Given the description of an element on the screen output the (x, y) to click on. 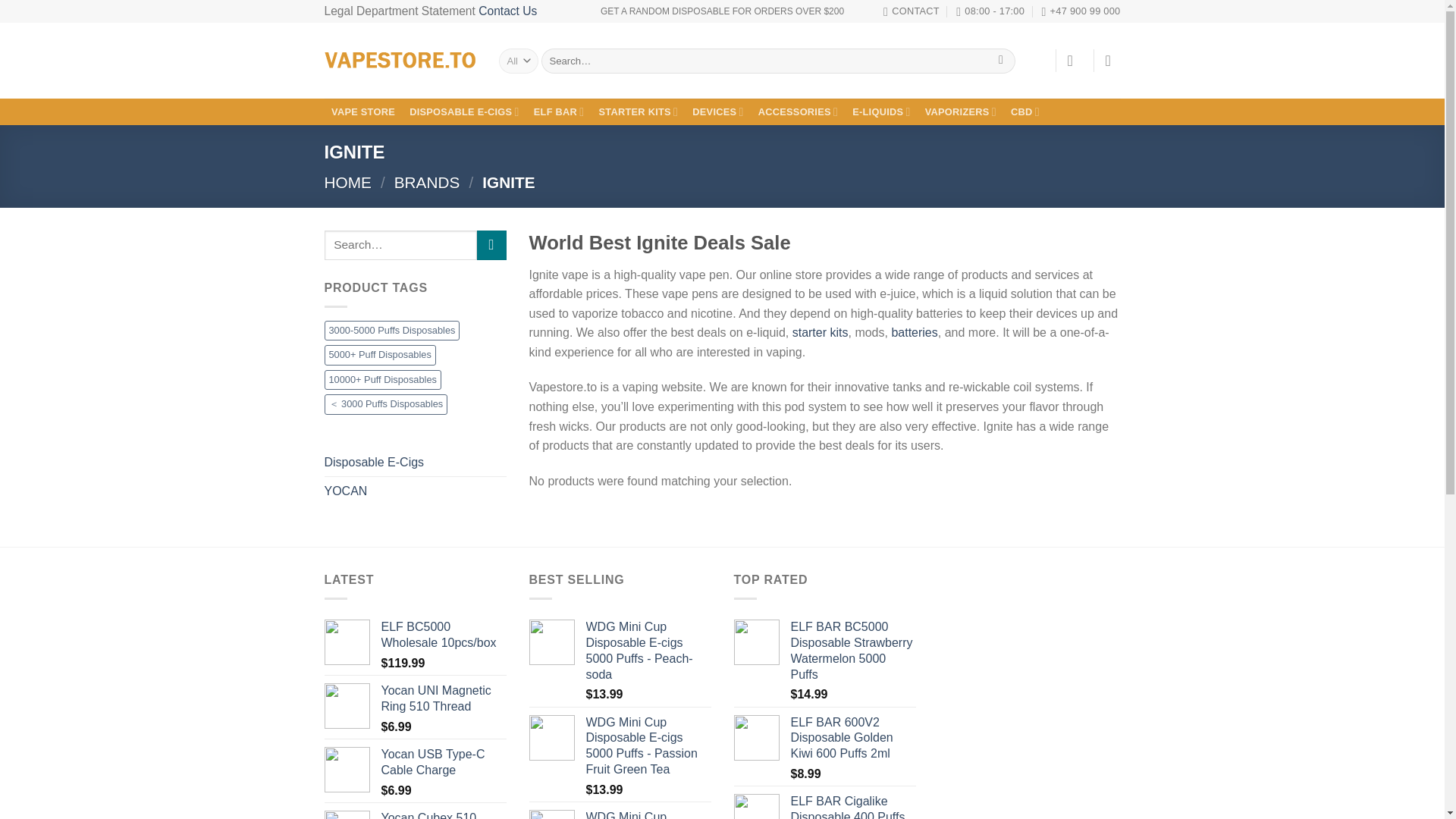
Search (1000, 61)
CONTACT (911, 11)
DISPOSABLE E-CIGS (465, 111)
Contact Us (508, 10)
VAPE STORE (363, 111)
08:00 - 17:00  (990, 11)
08:00 - 17:00 (990, 11)
